Given the description of an element on the screen output the (x, y) to click on. 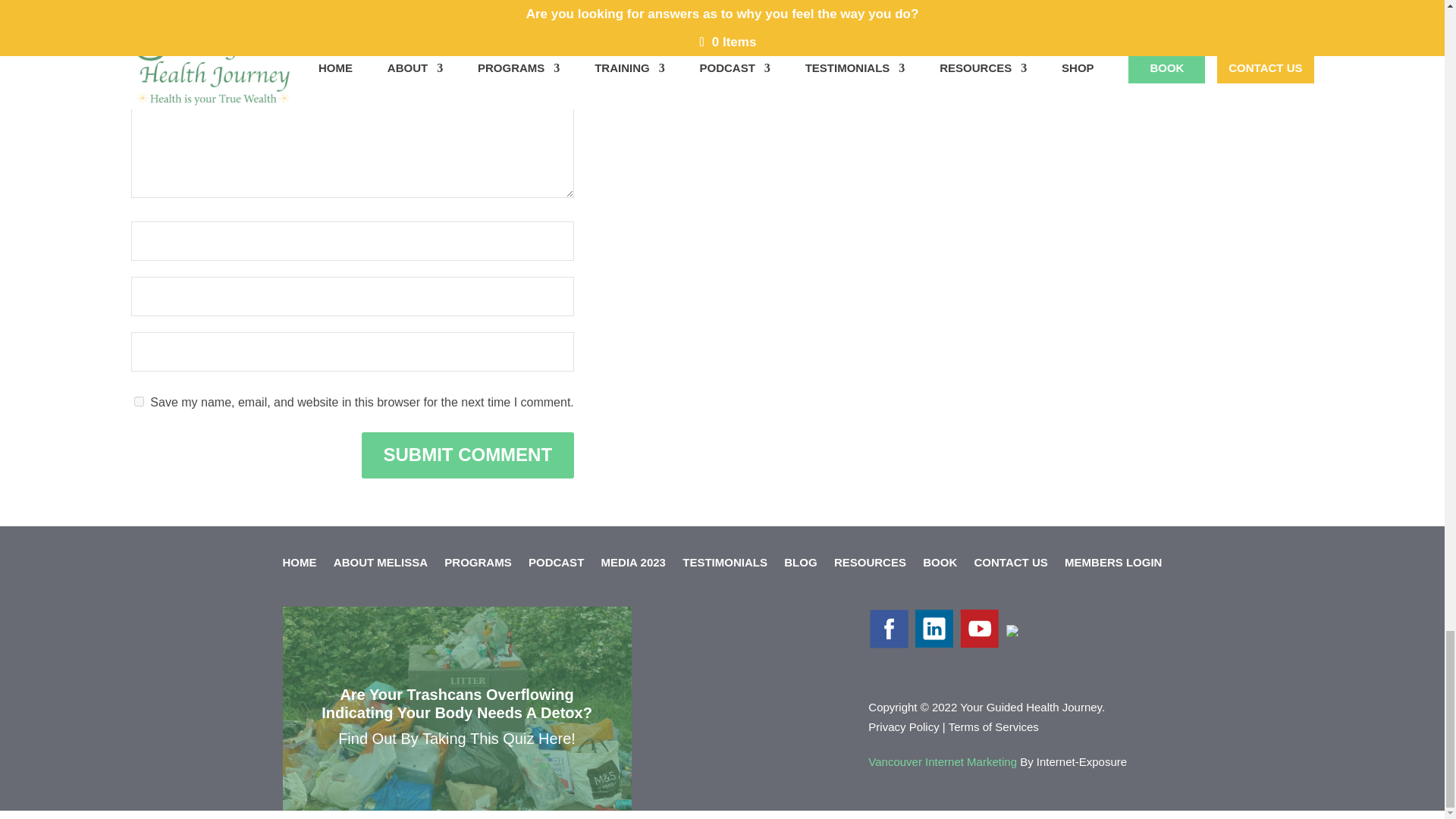
yes (137, 401)
Submit Comment (467, 455)
